Given the description of an element on the screen output the (x, y) to click on. 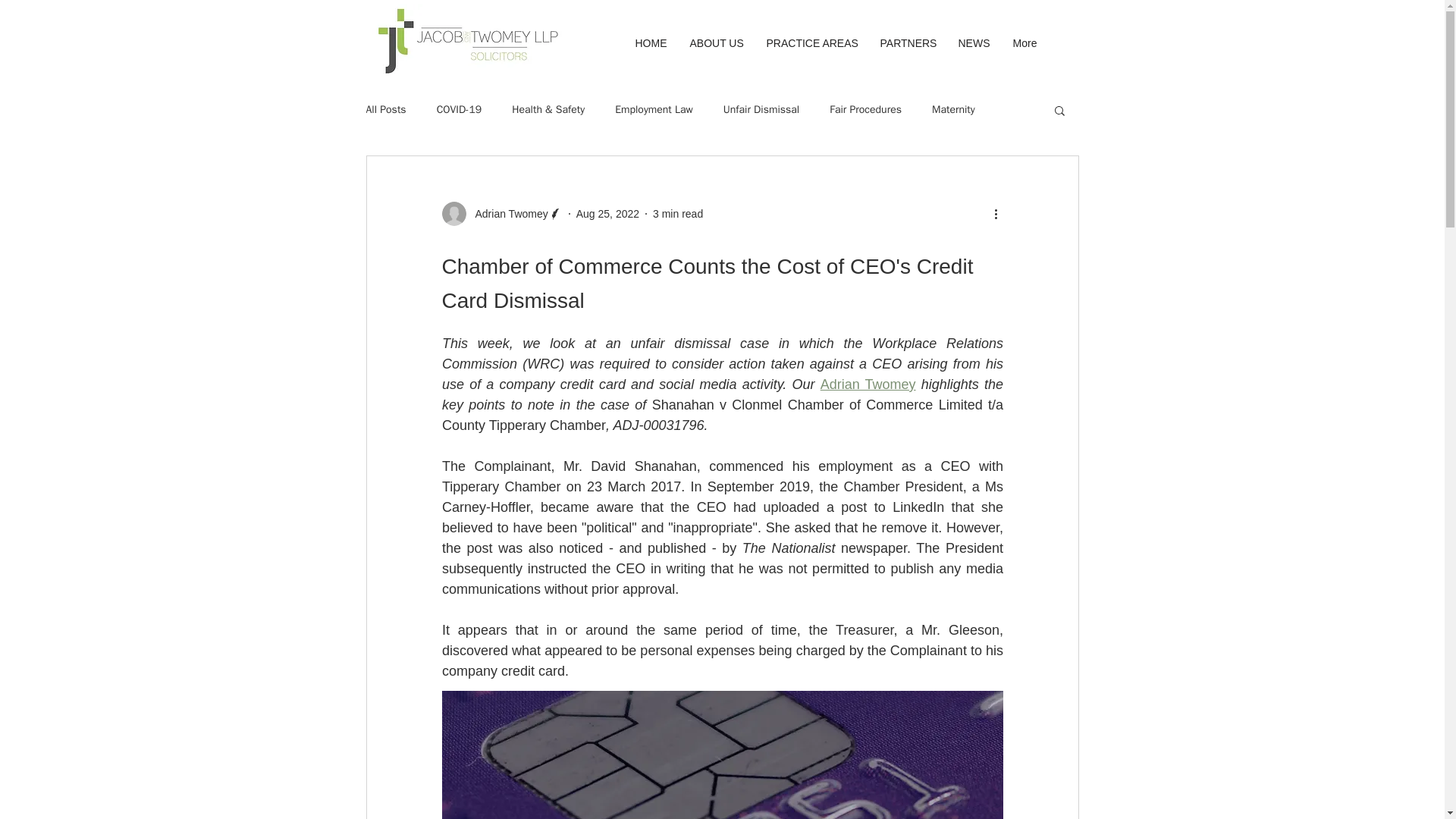
Maternity (953, 110)
Adrian Twomey (501, 213)
PRACTICE AREAS (812, 43)
Fair Procedures (865, 110)
ABOUT US (716, 43)
HOME (650, 43)
Jacob and Twomey LLP Logo (465, 41)
Employment Law (653, 110)
All Posts (385, 110)
COVID-19 (458, 110)
Aug 25, 2022 (607, 214)
NEWS (973, 43)
Adrian Twomey (867, 384)
PARTNERS (908, 43)
3 min read (677, 214)
